Given the description of an element on the screen output the (x, y) to click on. 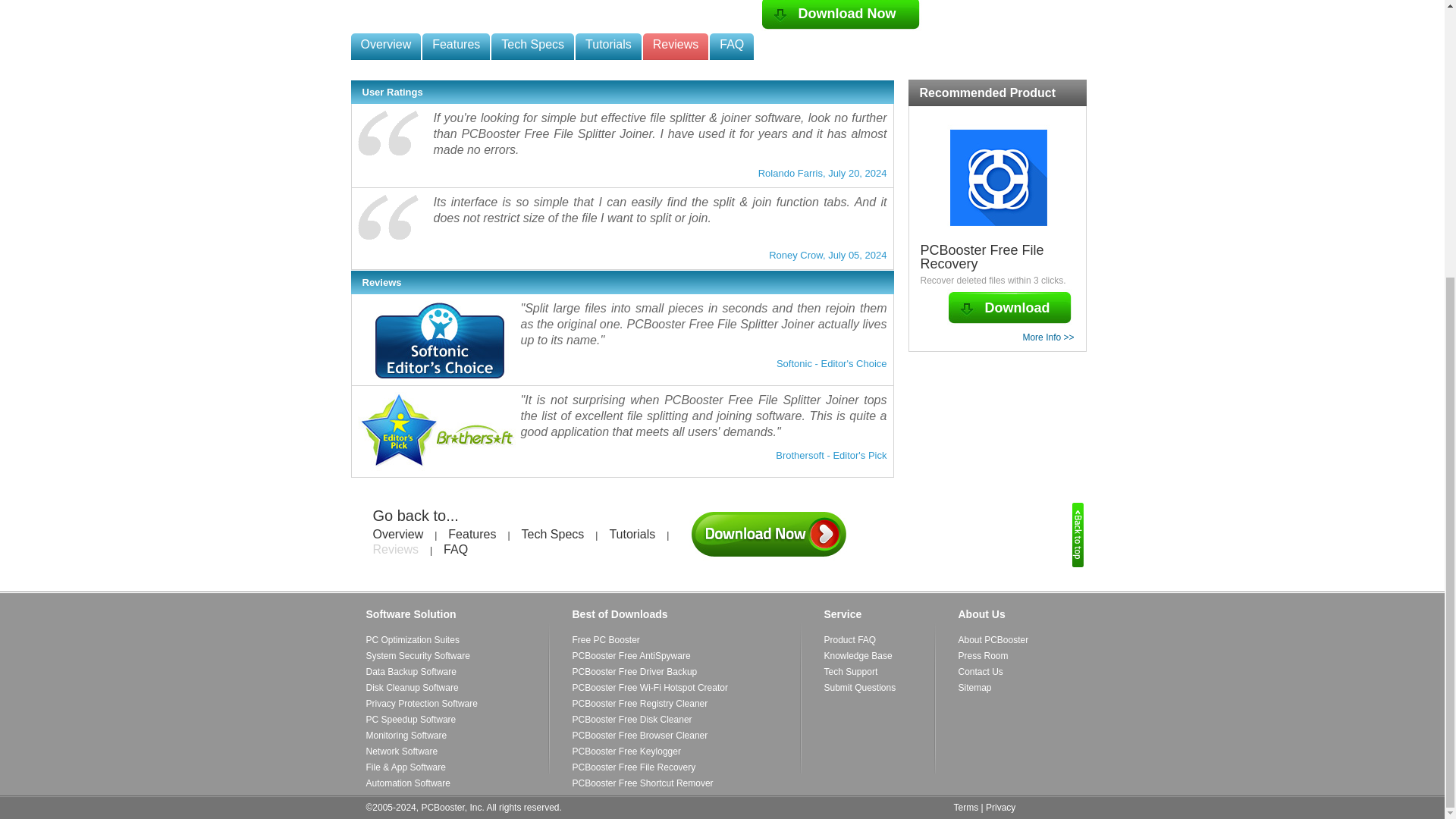
Softonic - Editor's Choice (439, 339)
Brothersoft - Editor's Pick (439, 431)
